Given the description of an element on the screen output the (x, y) to click on. 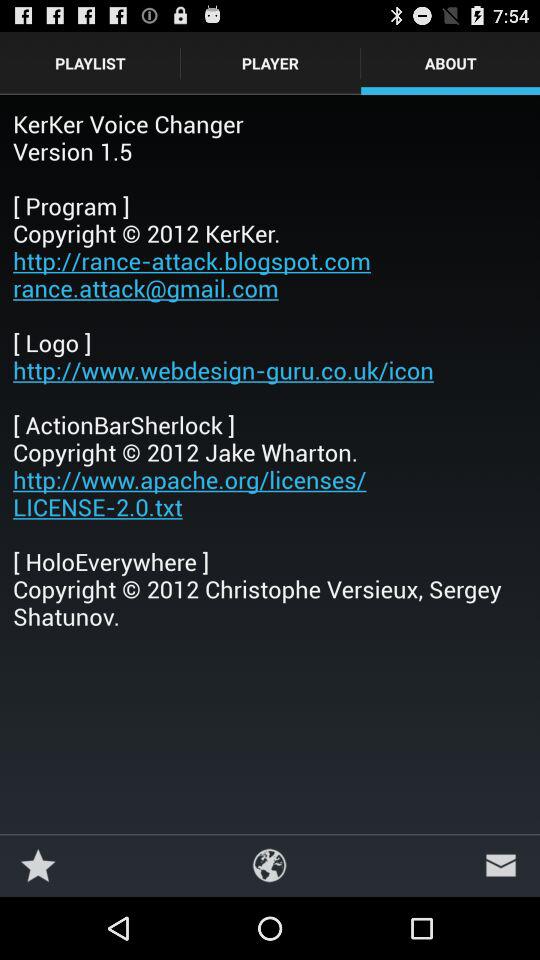
turn off icon below kerker voice changer item (269, 864)
